Given the description of an element on the screen output the (x, y) to click on. 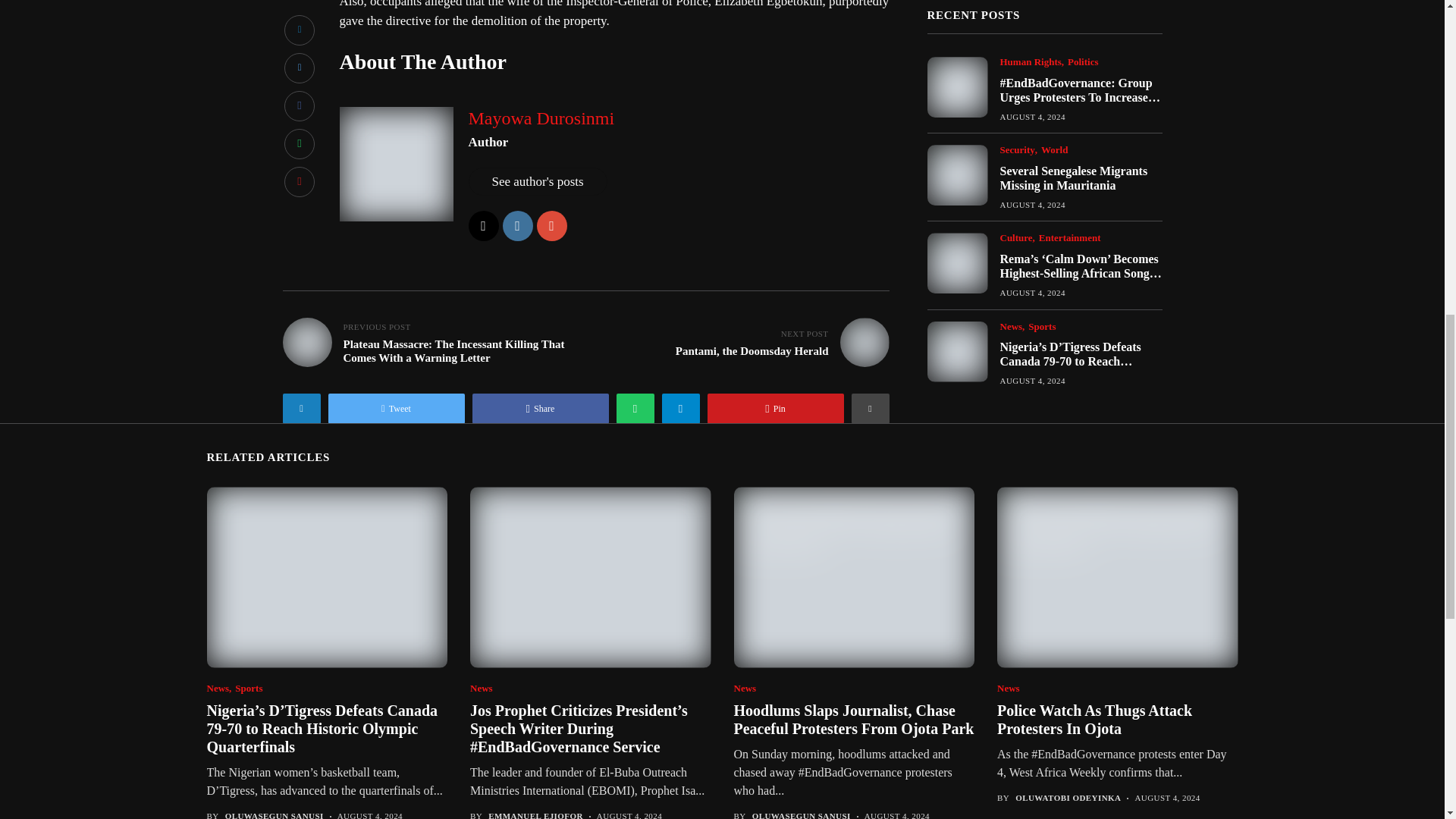
Posts by Oluwasegun Sanusi (801, 815)
Posts by Oluwasegun Sanusi (274, 815)
Posts by Oluwatobi Odeyinka (1067, 798)
Posts by Emmanuel Ejiofor (535, 815)
